Given the description of an element on the screen output the (x, y) to click on. 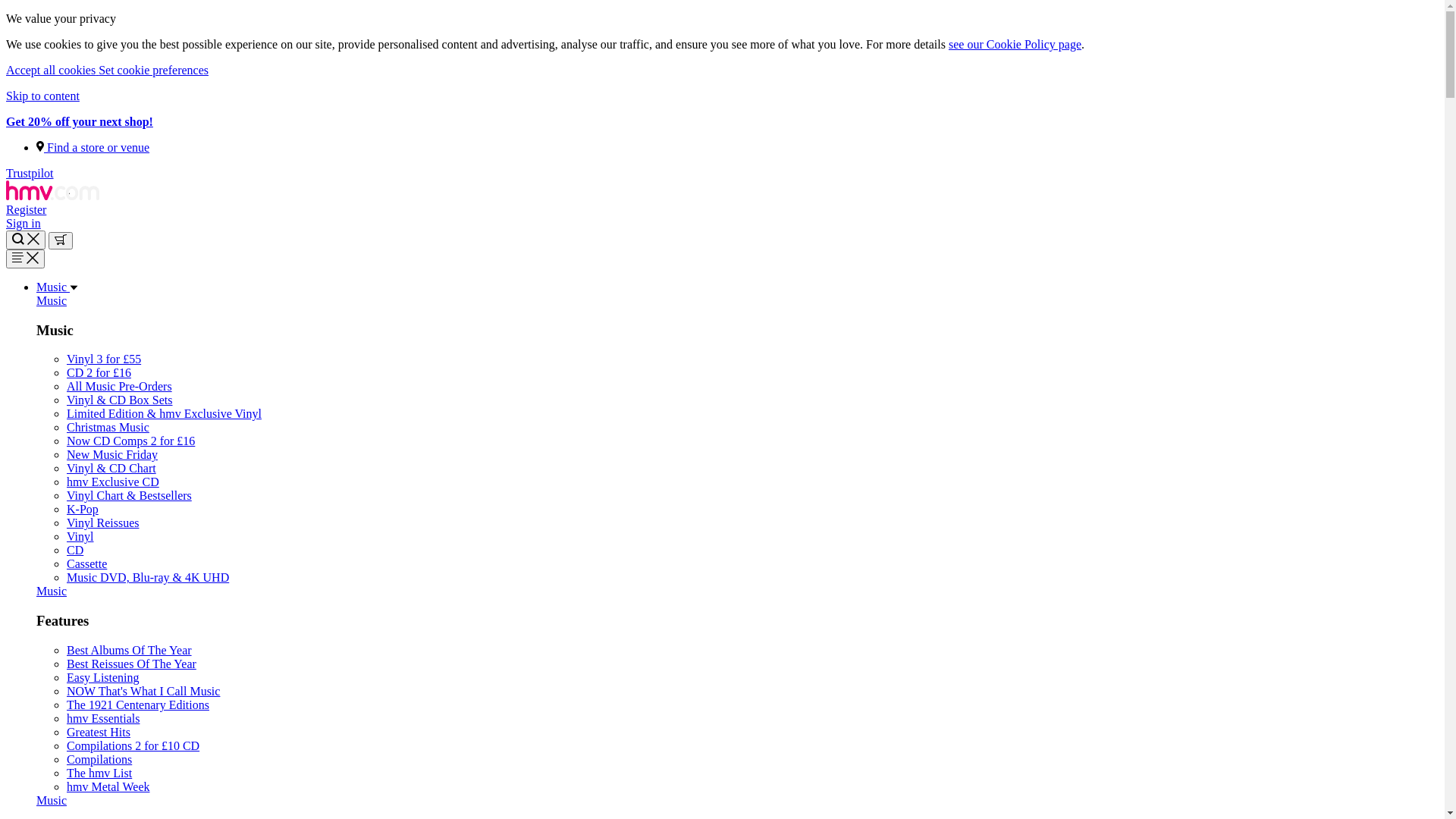
Music Element type: text (57, 286)
Register Element type: text (26, 209)
Vinyl & CD Box Sets Element type: text (119, 399)
Music DVD, Blu-ray & 4K UHD Element type: text (147, 577)
Music Element type: text (51, 590)
Best Albums Of The Year Element type: text (128, 649)
New Music Friday Element type: text (111, 454)
CD Element type: text (74, 549)
Vinyl Element type: text (79, 536)
Accept all cookies Element type: text (52, 69)
The hmv List Element type: text (98, 772)
Find a store or venue Element type: text (92, 147)
Vinyl Chart & Bestsellers Element type: text (128, 495)
Vinyl & CD Chart Element type: text (111, 467)
hmv Exclusive CD Element type: text (112, 481)
hmv Essentials Element type: text (102, 718)
Skip to content Element type: text (42, 95)
Compilations Element type: text (98, 759)
Best Reissues Of The Year Element type: text (131, 663)
Music Element type: text (51, 300)
Christmas Music Element type: text (107, 426)
Greatest Hits Element type: text (98, 731)
Cassette Element type: text (86, 563)
see our Cookie Policy page Element type: text (1014, 43)
Music Element type: text (51, 799)
Set cookie preferences Element type: text (153, 69)
Easy Listening Element type: text (102, 677)
Limited Edition & hmv Exclusive Vinyl Element type: text (163, 413)
Vinyl Reissues Element type: text (102, 522)
NOW That's What I Call Music Element type: text (142, 690)
Get 20% off your next shop! Element type: text (79, 121)
The 1921 Centenary Editions Element type: text (137, 704)
Trustpilot Element type: text (29, 172)
K-Pop Element type: text (82, 508)
All Music Pre-Orders Element type: text (119, 385)
hmv Metal Week Element type: text (108, 786)
Sign in Element type: text (23, 222)
